Given the description of an element on the screen output the (x, y) to click on. 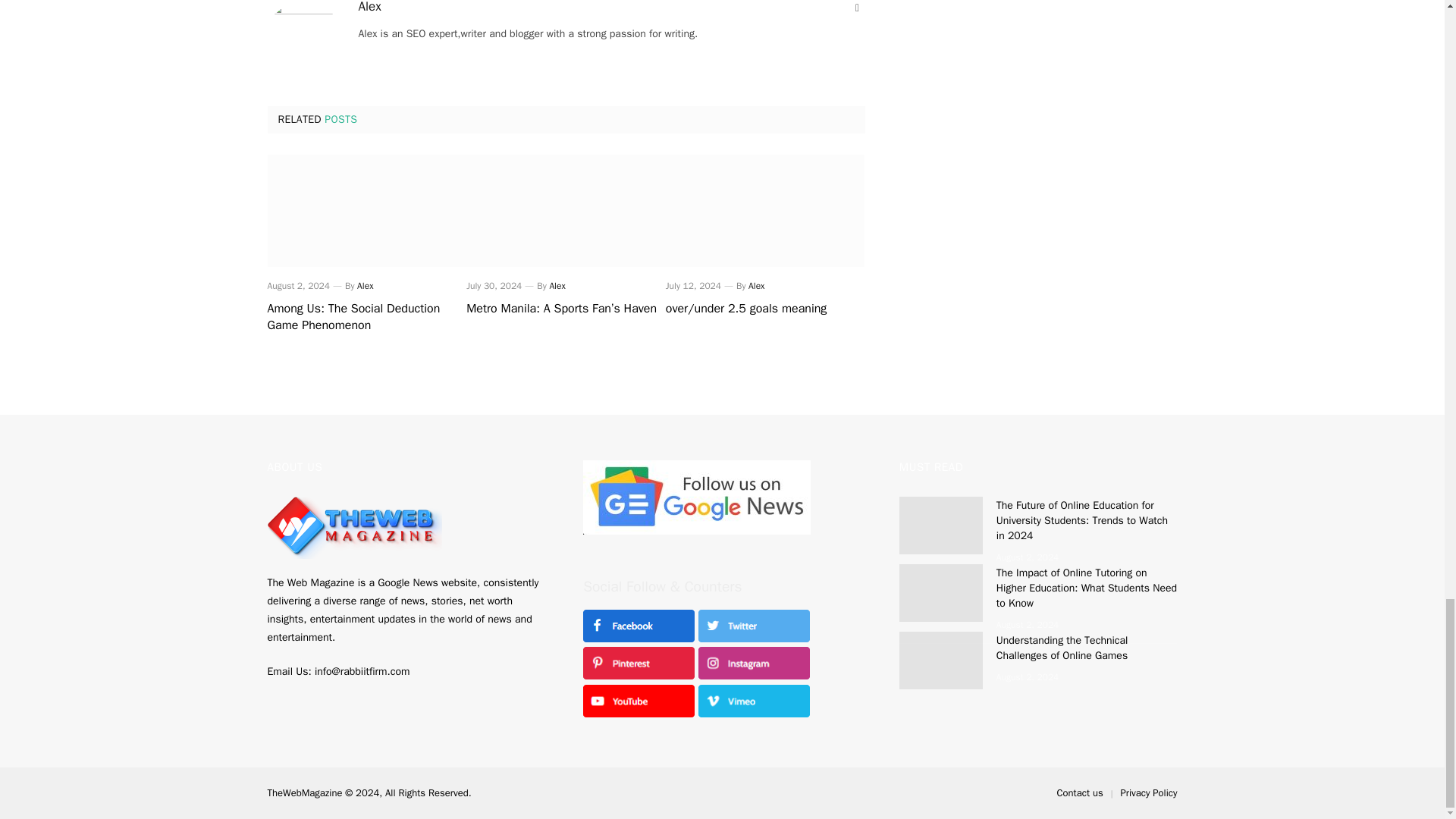
Posts by Alex (556, 285)
Website (856, 7)
Alex (756, 285)
Posts by Alex (364, 285)
Among Us: The Social Deduction Game Phenomenon (365, 210)
Alex (556, 285)
Alex (364, 285)
Posts by Alex (369, 7)
Website (856, 7)
Among Us: The Social Deduction Game Phenomenon (365, 317)
Alex (369, 7)
